Given the description of an element on the screen output the (x, y) to click on. 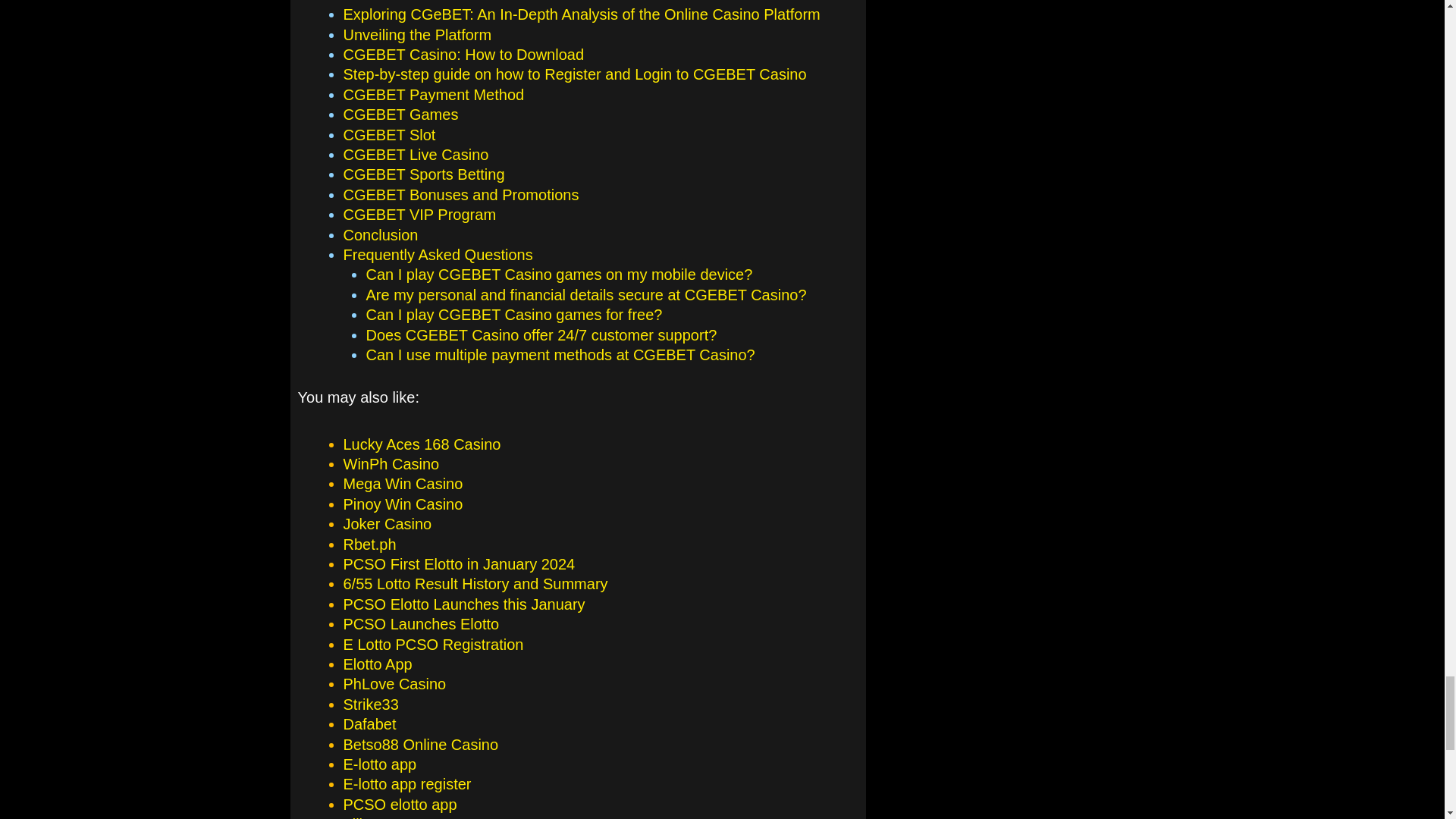
CGEBET Live Casino (414, 154)
Conclusion (379, 234)
Can I play CGEBET Casino games for free? (513, 314)
CGEBET Slot (388, 134)
PCSO First Elotto in January 2024 (458, 564)
CGEBET Bonuses and Promotions (460, 194)
Can I play CGEBET Casino games on my mobile device? (558, 274)
WinPh Casino (390, 463)
CGEBET Sports Betting (422, 174)
Mega Win Casino (402, 483)
CGEBET VIP Program (419, 214)
Frequently Asked Questions (437, 254)
Unveiling the Platform (417, 34)
